Given the description of an element on the screen output the (x, y) to click on. 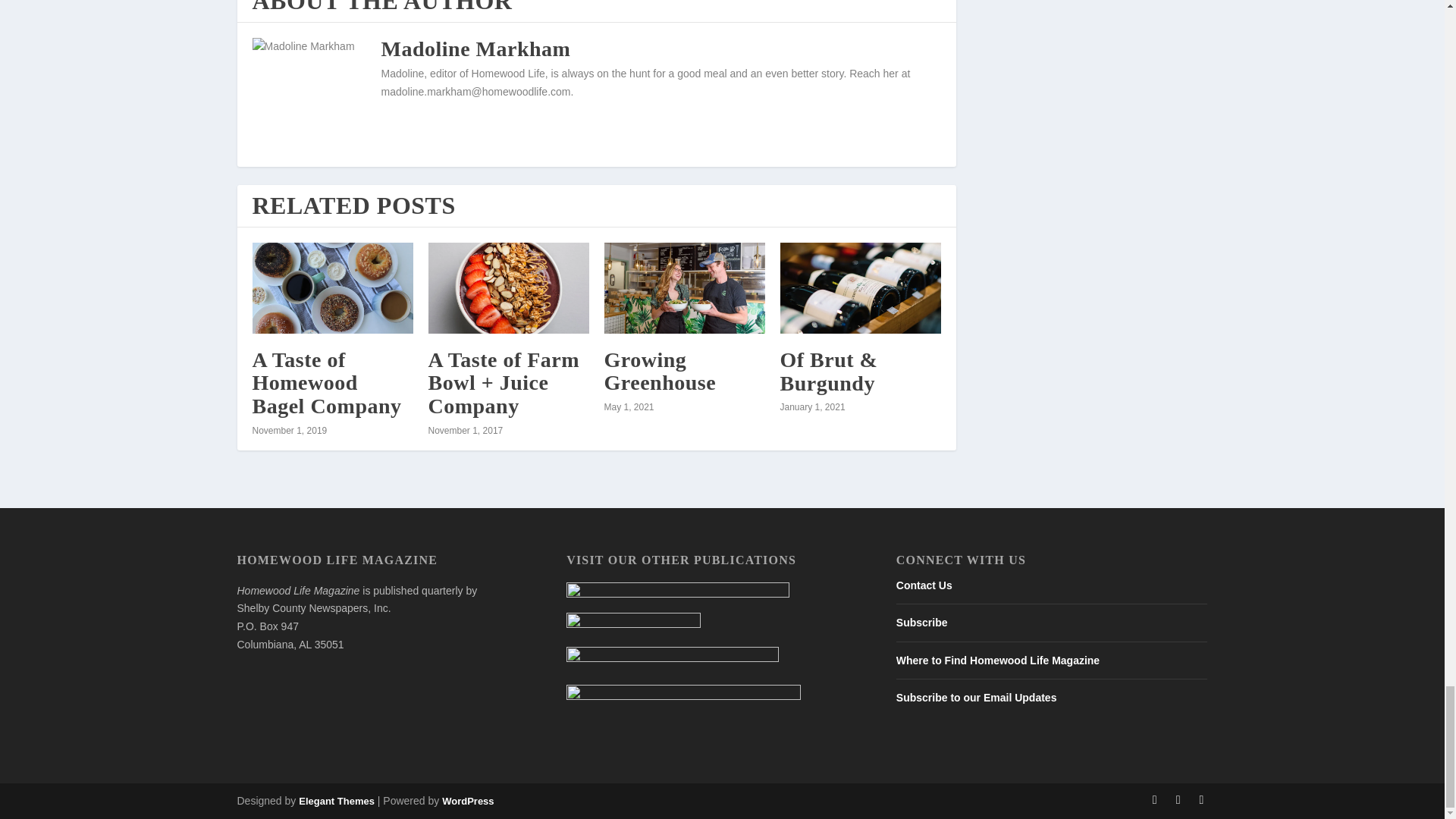
Growing Greenhouse (684, 287)
A Taste of Homewood Bagel Company (331, 287)
View all posts by Madoline Markham (475, 48)
